Given the description of an element on the screen output the (x, y) to click on. 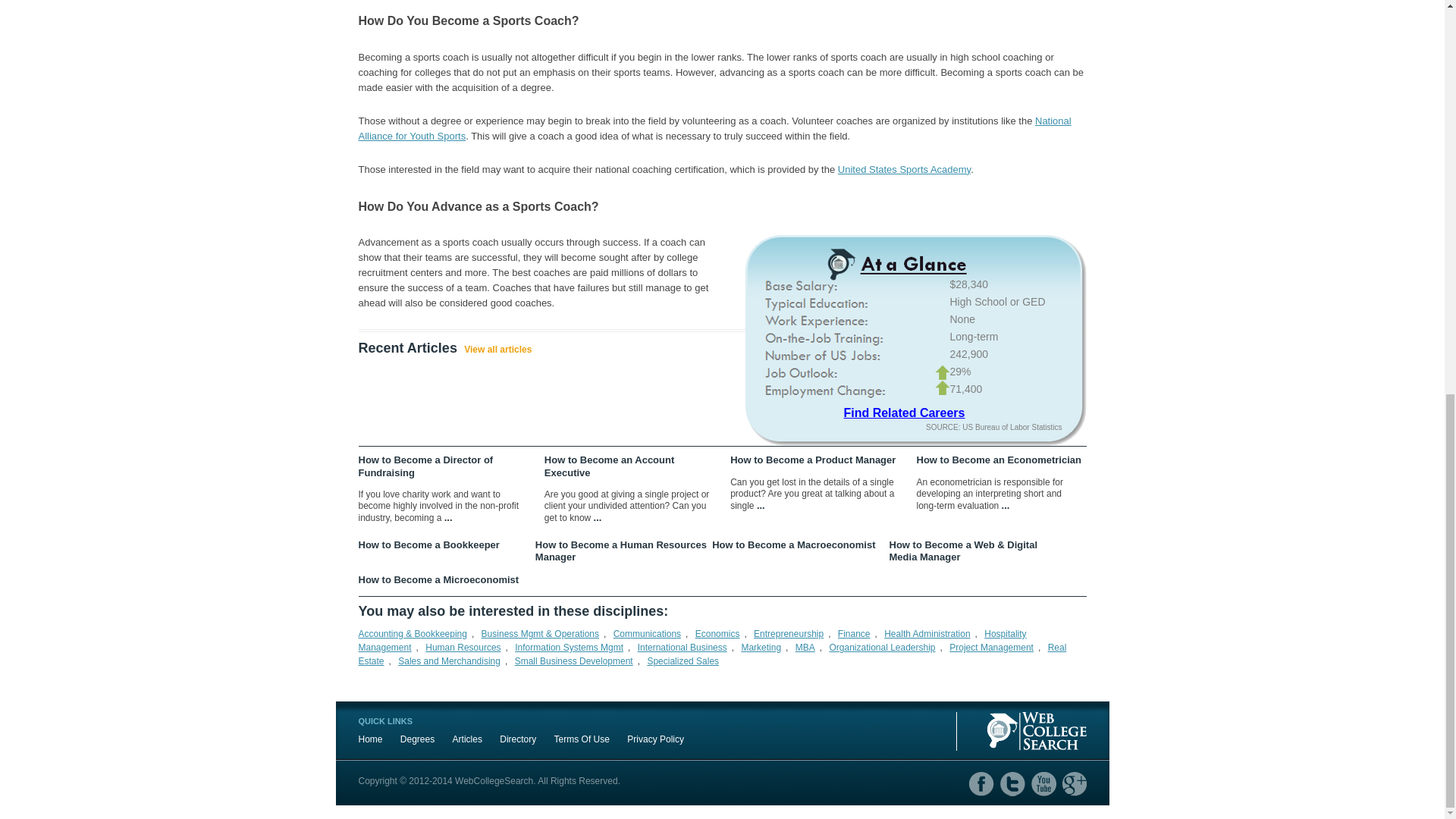
Communications (646, 633)
View all posts in Health Administration (926, 633)
International Business (681, 647)
Hospitality Management (692, 640)
View all posts in MBA (804, 647)
Find Related Careers (903, 412)
View all posts in Human Resources (462, 647)
United States Sports Academy (904, 169)
Health Administration (926, 633)
Marketing (760, 647)
Entrepreneurship (789, 633)
Information Systems Mgmt (569, 647)
View all posts in Hospitality Management (692, 640)
How to Become a Bookkeeper (445, 544)
View all posts in Finance (854, 633)
